Given the description of an element on the screen output the (x, y) to click on. 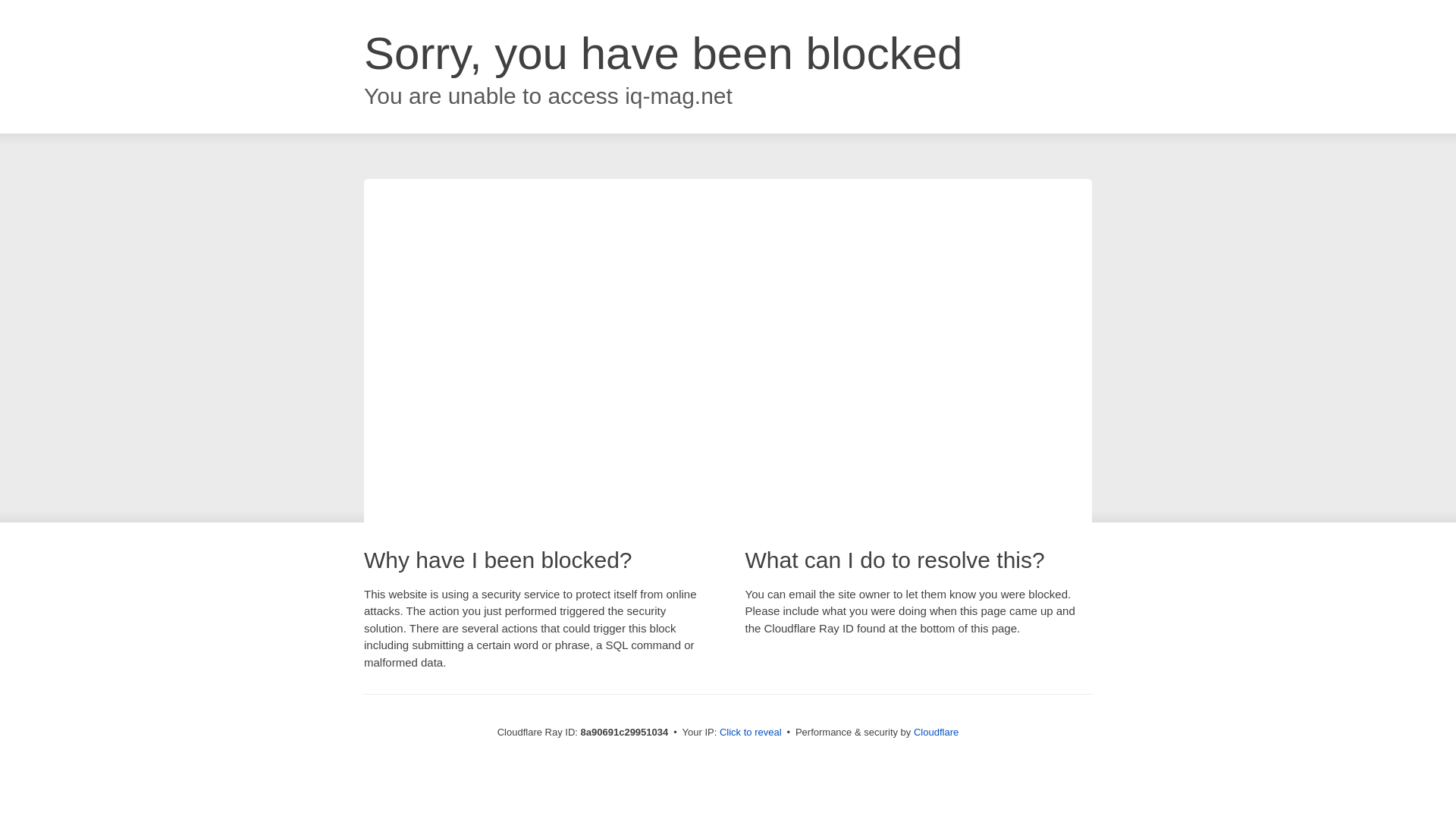
Cloudflare (936, 731)
Click to reveal (750, 732)
